Given the description of an element on the screen output the (x, y) to click on. 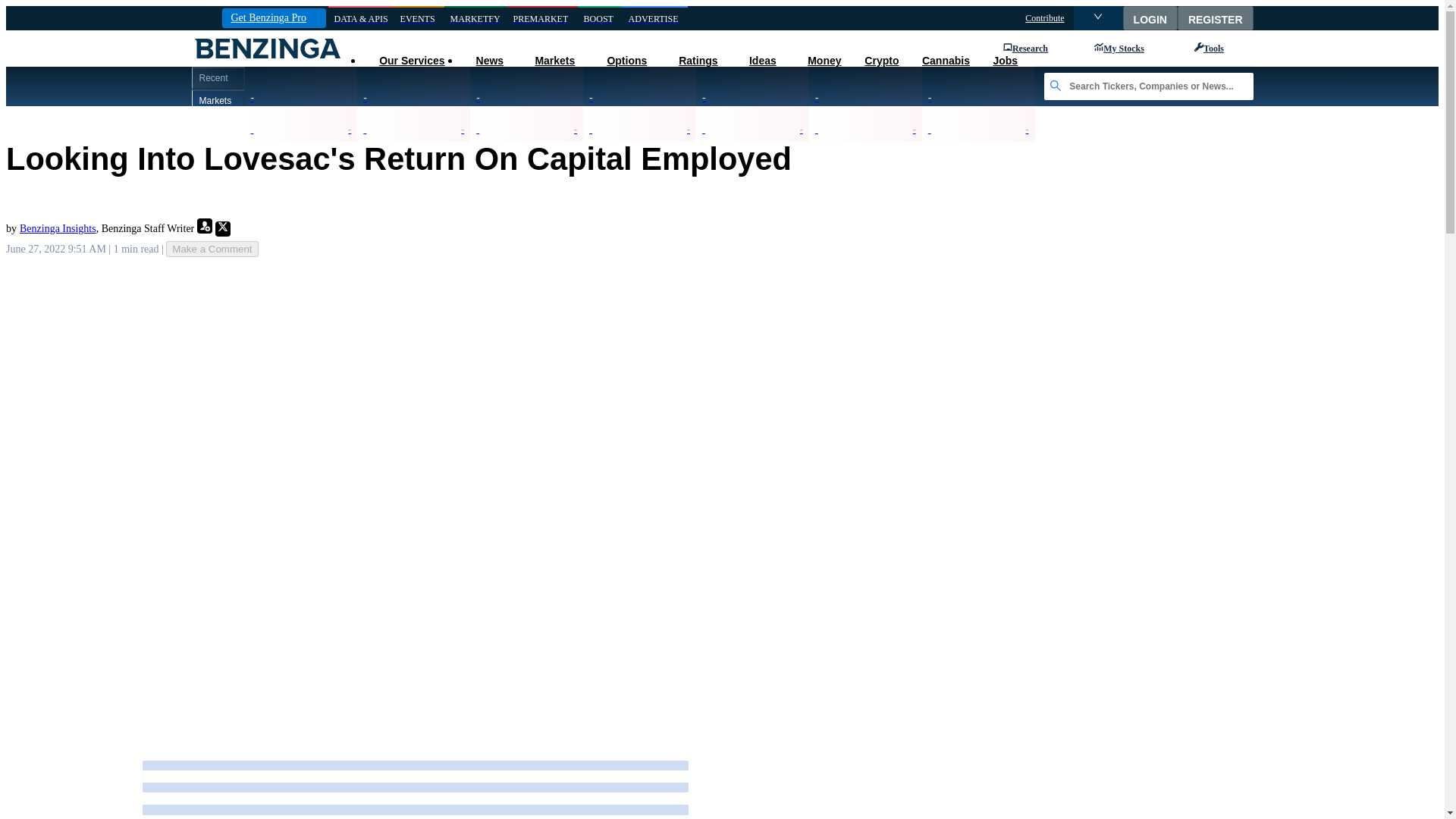
News (489, 60)
EVENTS (419, 18)
News (489, 60)
Get Benzinga Pro (272, 17)
Contribute (1044, 17)
MARKETFY (475, 18)
Our Services (411, 60)
BOOST (600, 18)
REGISTER (1215, 17)
PREMARKET (542, 18)
LOGIN (1149, 17)
ADVERTISE (655, 18)
Our Services (411, 60)
